Given the description of an element on the screen output the (x, y) to click on. 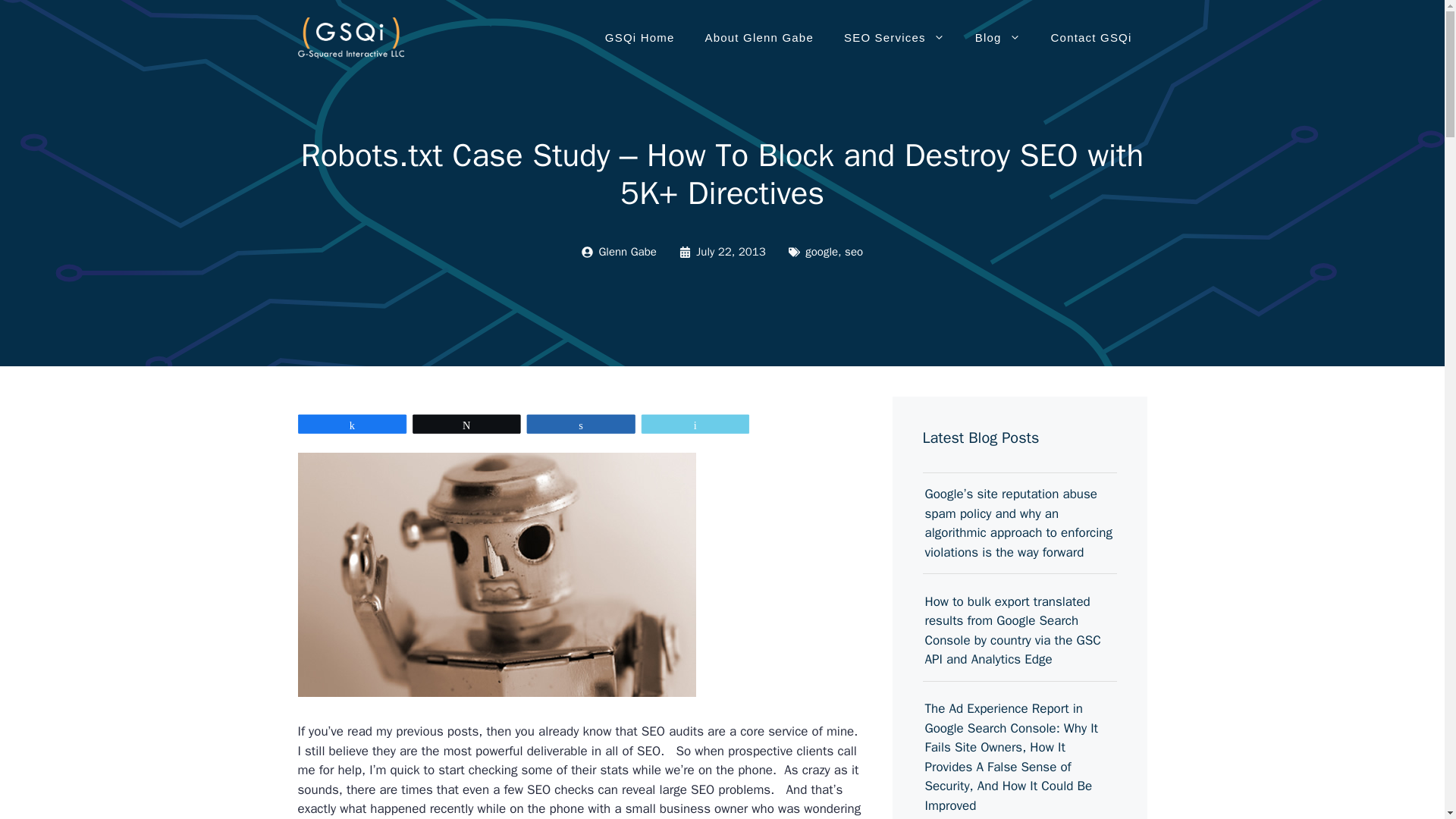
SEO Services (893, 37)
Robots.txt Problems with 5K Directives (496, 574)
Glenn Gabe (627, 251)
GSQi Home (639, 37)
GSQi Home (639, 37)
About Glenn Gabe (759, 37)
seo (853, 251)
Contact GSQi (1091, 37)
Glenn Gabe (627, 251)
About Glenn Gabe (759, 37)
